Given the description of an element on the screen output the (x, y) to click on. 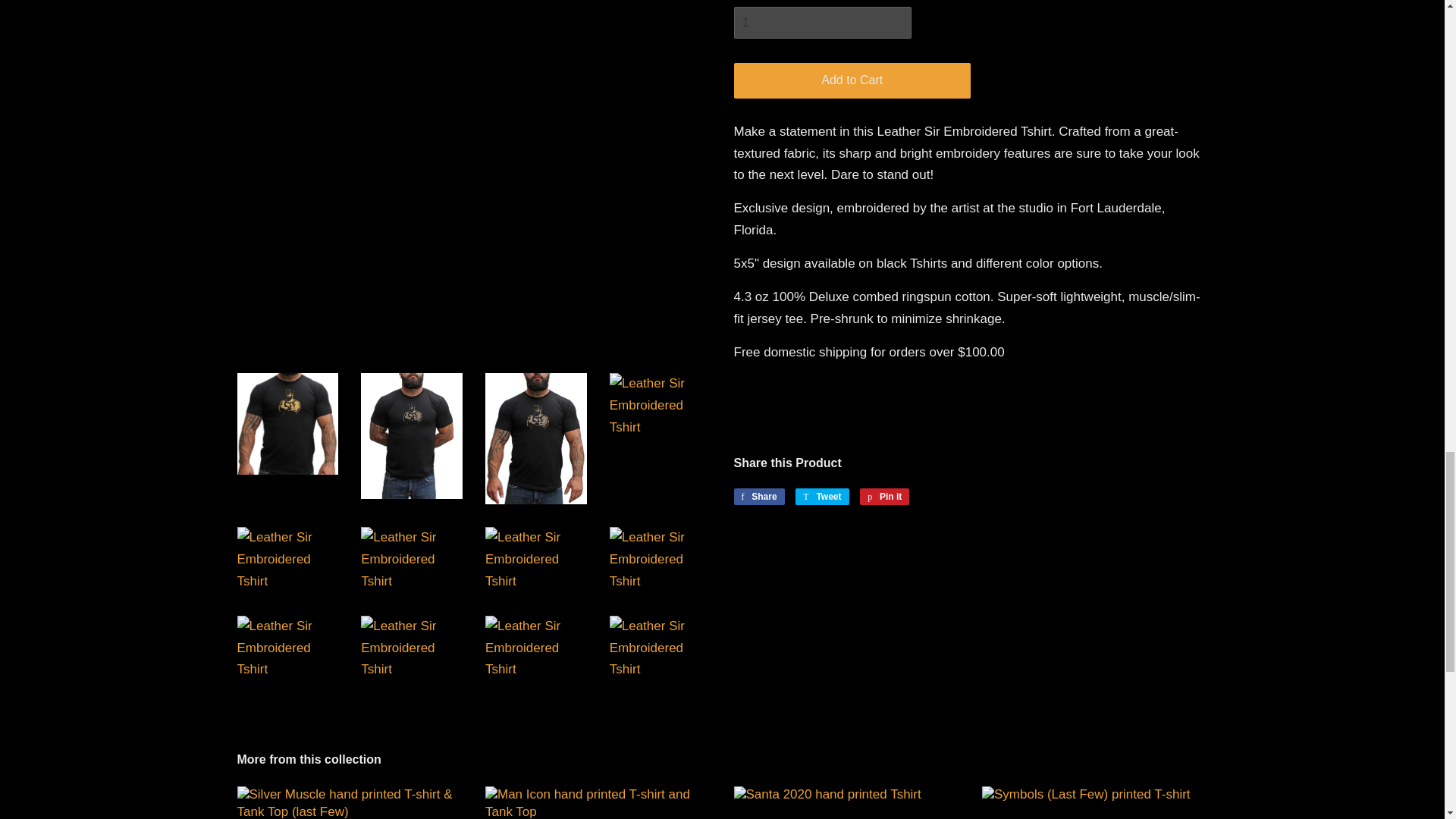
Tweet on Twitter (821, 496)
1 (822, 22)
Share on Facebook (758, 496)
Pin on Pinterest (884, 496)
